Given the description of an element on the screen output the (x, y) to click on. 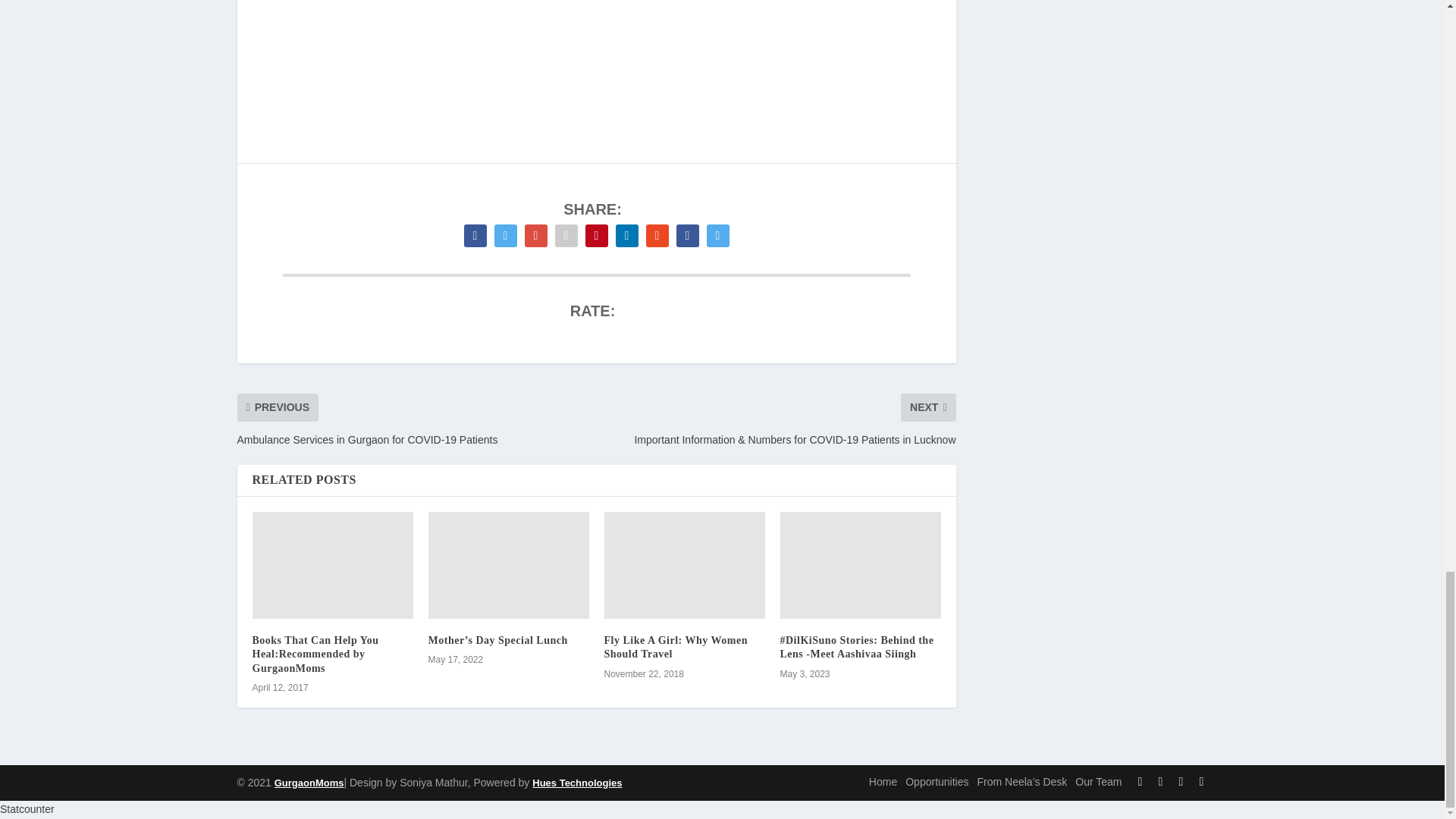
Share "COVID-19 -Resources for Plasma Therapy" via Email (686, 235)
Share "COVID-19 -Resources for Plasma Therapy" via Tumblr (565, 235)
Share "COVID-19 -Resources for Plasma Therapy" via Pinterest (595, 235)
Share "COVID-19 -Resources for Plasma Therapy" via LinkedIn (626, 235)
Share "COVID-19 -Resources for Plasma Therapy" via Twitter (504, 235)
Share "COVID-19 -Resources for Plasma Therapy" via Facebook (474, 235)
Share "COVID-19 -Resources for Plasma Therapy" via Print (716, 235)
